Given the description of an element on the screen output the (x, y) to click on. 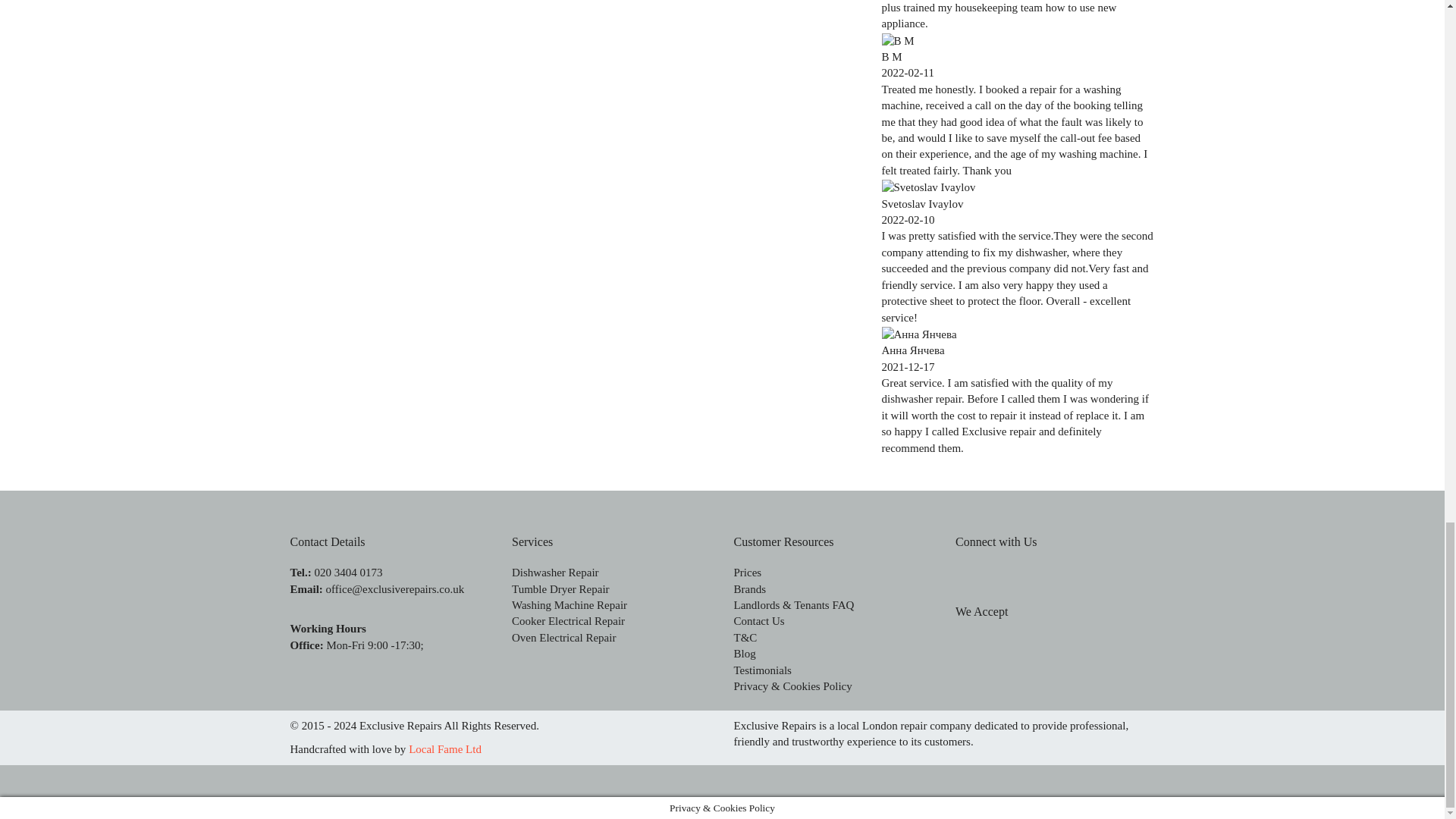
Brands (750, 589)
Contact Us (758, 621)
Reviews (793, 604)
Our Prices (747, 572)
Terms and Conditions (745, 637)
